Given the description of an element on the screen output the (x, y) to click on. 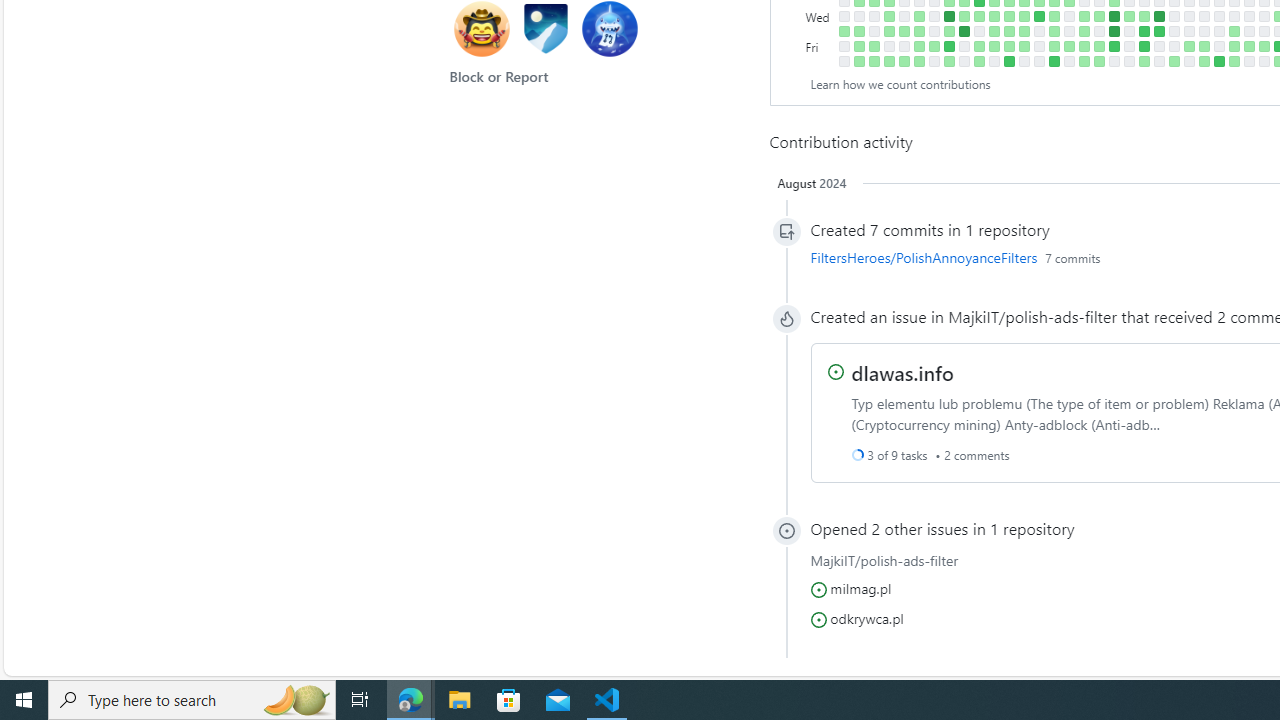
No contributions on December 9th. (1068, 61)
No contributions on August 30th. (858, 16)
No contributions on January 24th. (1173, 16)
No contributions on October 26th. (978, 30)
4 contributions on November 16th. (1023, 30)
2 contributions on December 8th. (1068, 46)
No contributions on October 21st. (963, 61)
No contributions on January 20th. (1158, 61)
1 contribution on February 2nd. (1188, 46)
No contributions on January 26th. (1173, 46)
5 contributions on December 15th. (1083, 46)
No contributions on January 6th. (1128, 61)
12 contributions on October 11th. (948, 16)
FiltersHeroes/PolishAnnoyanceFilters (924, 257)
5 contributions on November 2nd. (993, 30)
